Given the description of an element on the screen output the (x, y) to click on. 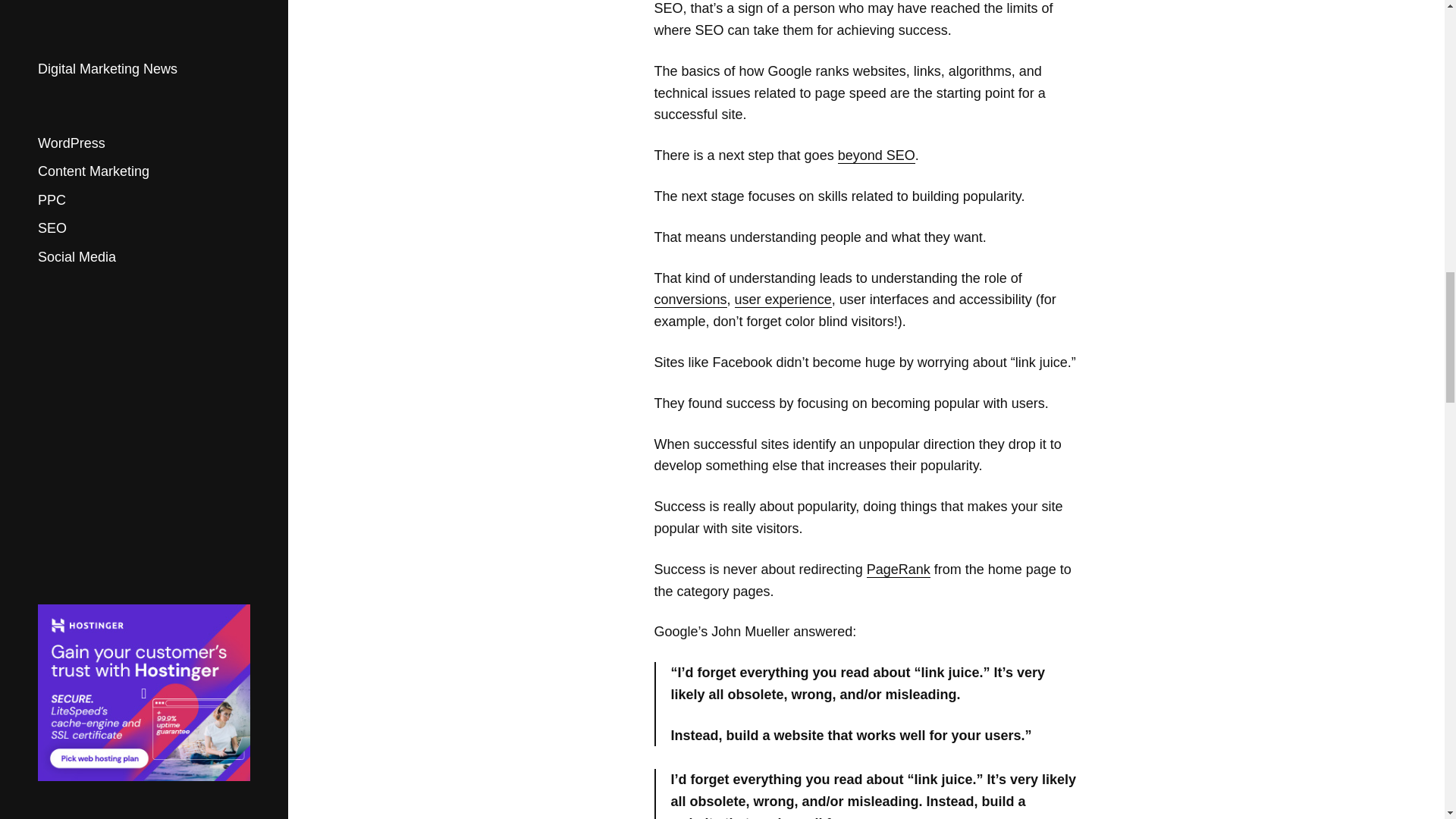
conversions (689, 299)
PageRank (898, 569)
beyond SEO (876, 155)
user experience (783, 299)
